Given the description of an element on the screen output the (x, y) to click on. 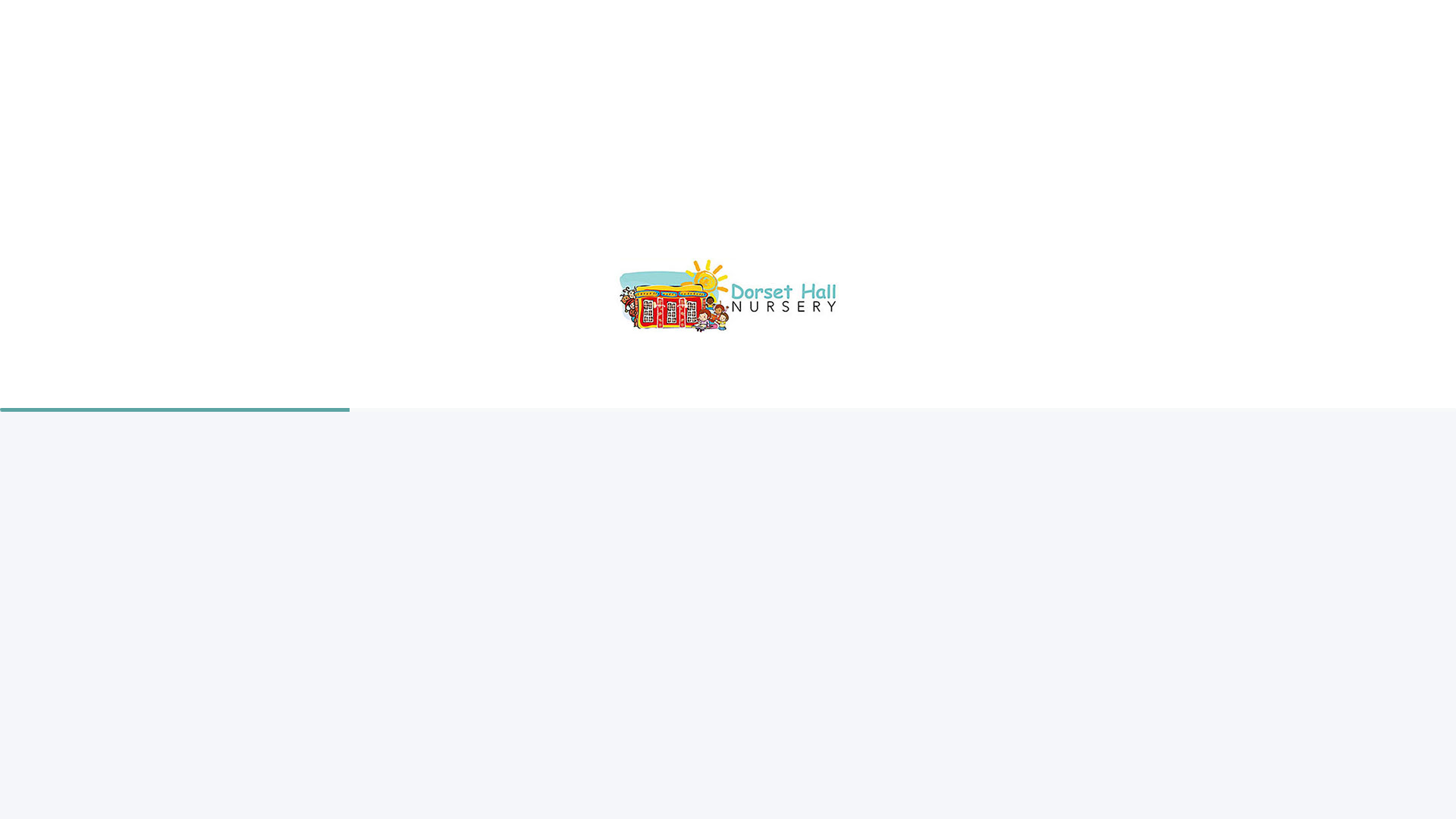
Register (356, 18)
Home (306, 18)
Contact Us (409, 18)
Download (1088, 740)
